Given the description of an element on the screen output the (x, y) to click on. 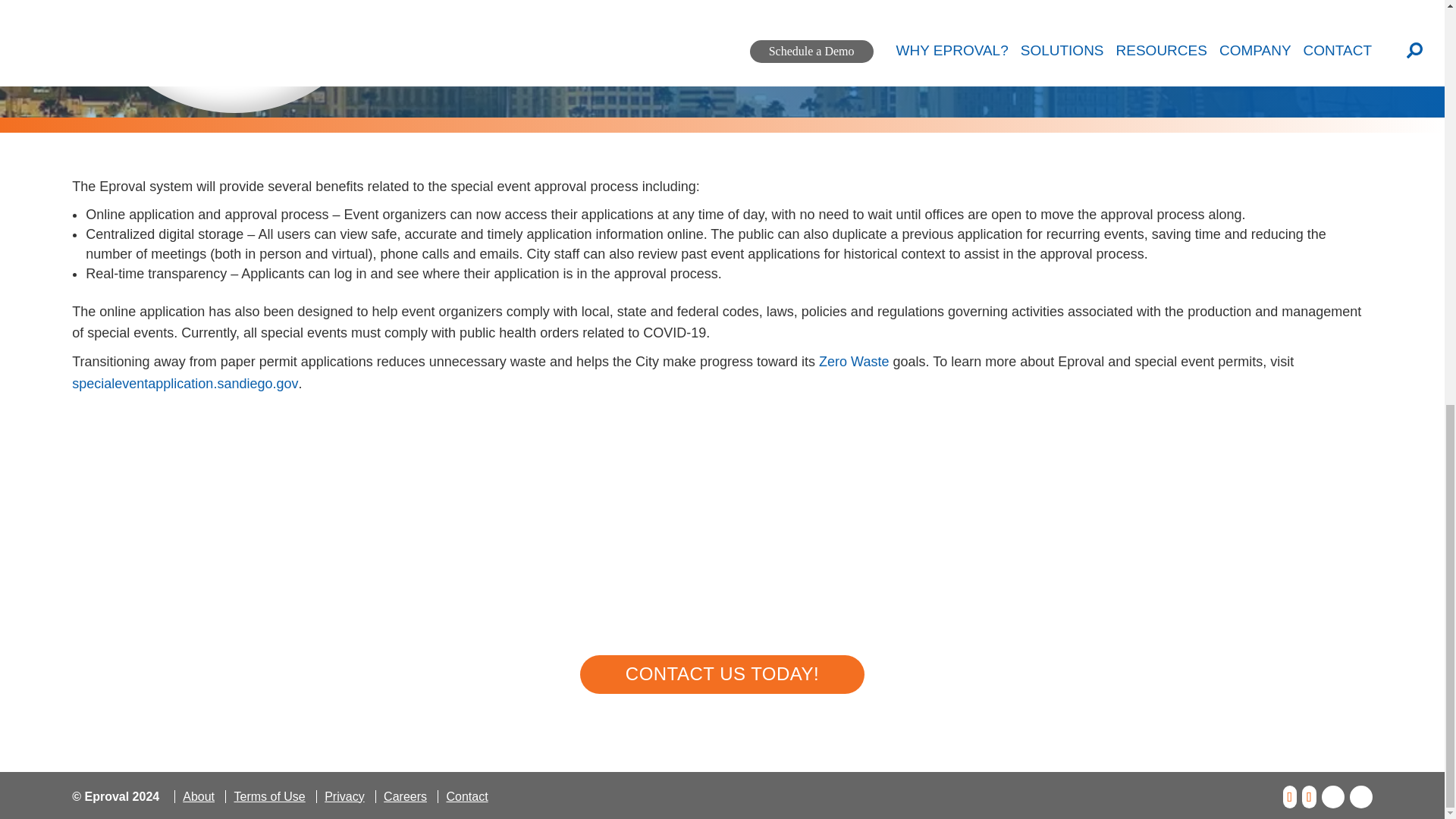
specialeventapplication.sandiego.gov (184, 383)
CONTACT US TODAY! (721, 674)
Zero Waste (853, 361)
About (198, 796)
Terms of Use (269, 796)
Privacy (343, 796)
Contact (466, 796)
Careers (404, 796)
